Given the description of an element on the screen output the (x, y) to click on. 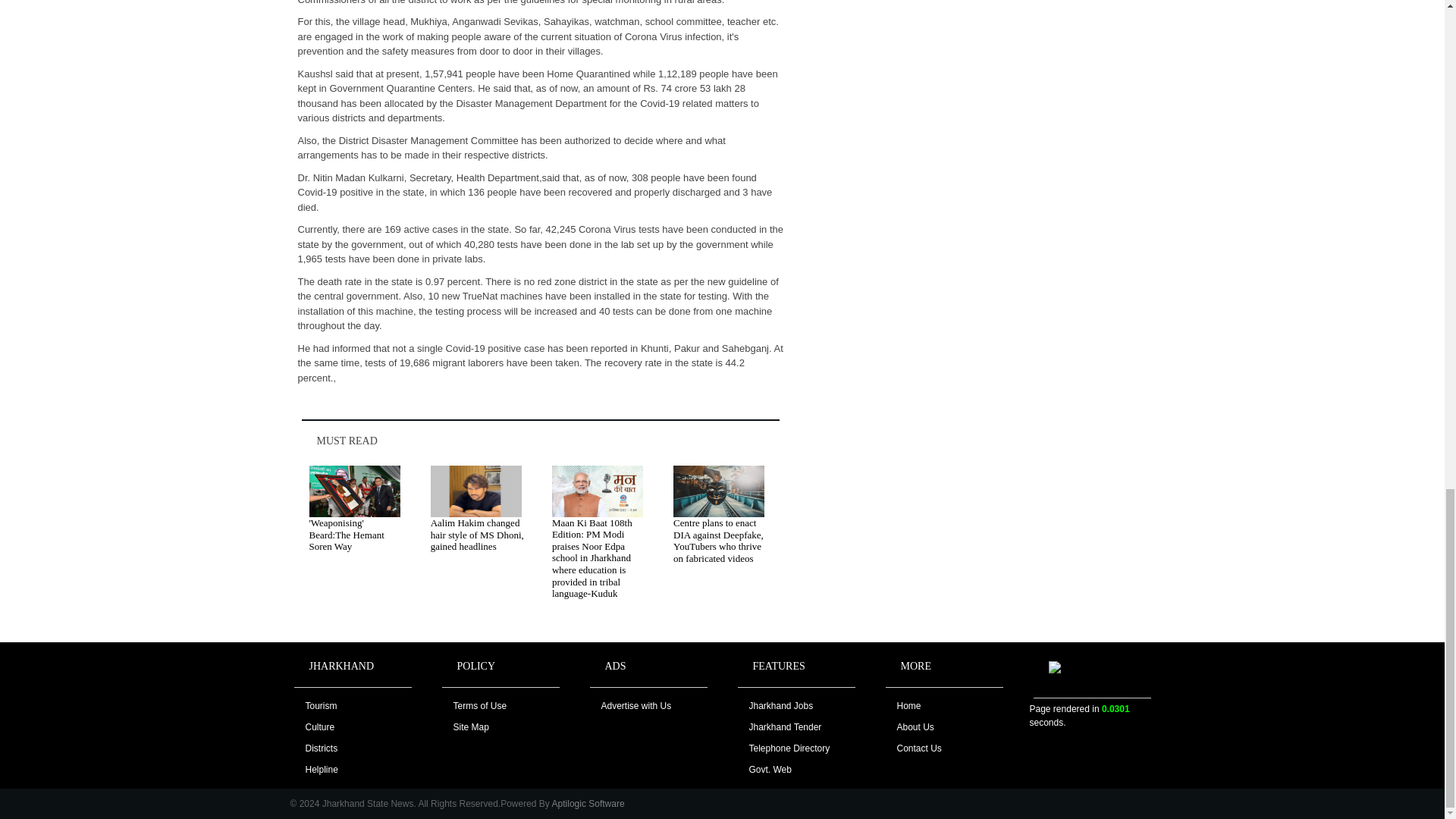
'Weaponising' Beard:The Hemant Soren Way (346, 534)
Aalim Hakim changed hair style of MS Dhoni, gained headlines (477, 534)
